Given the description of an element on the screen output the (x, y) to click on. 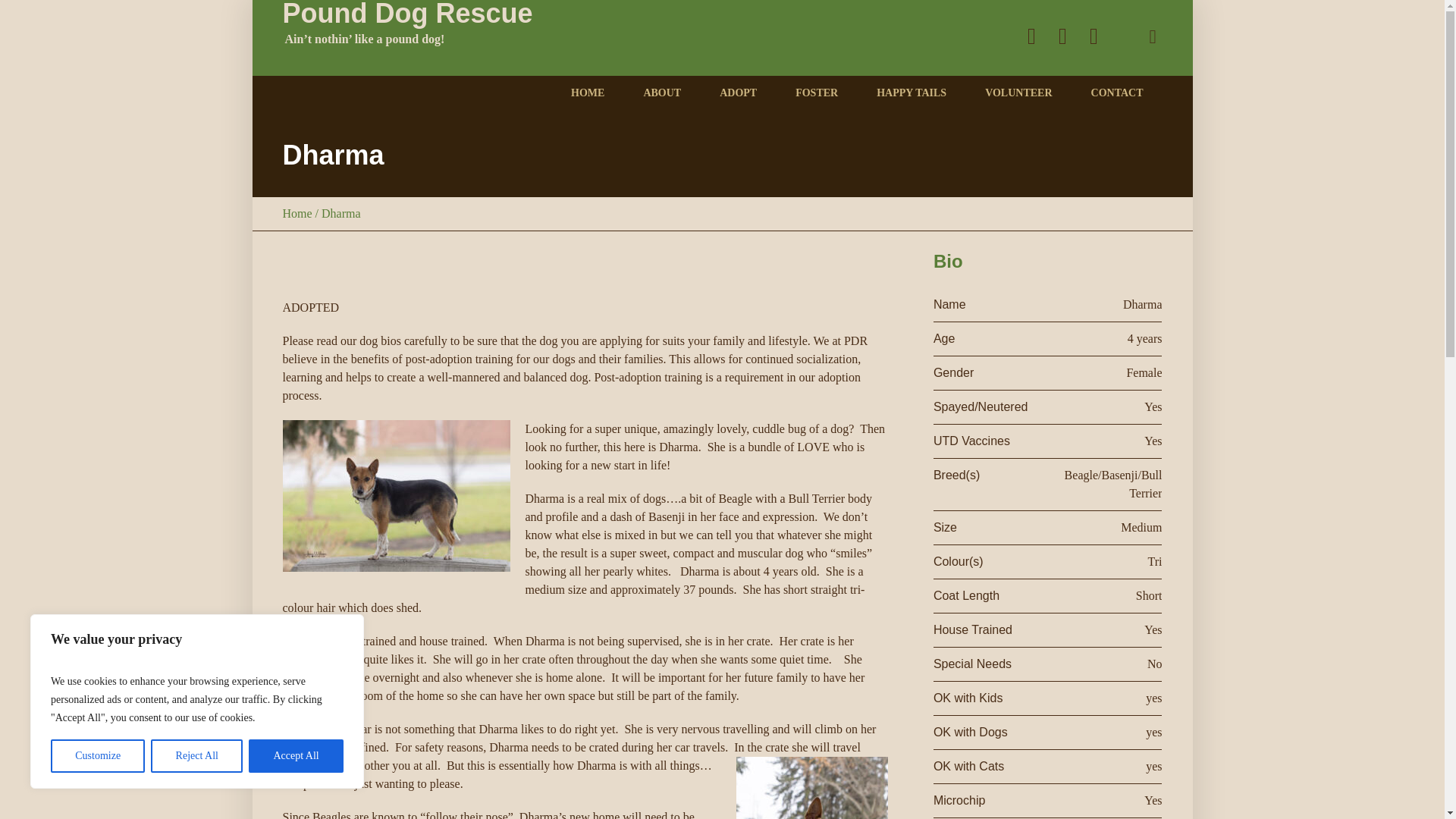
ADOPT (738, 92)
Twitter (1031, 35)
Customize (97, 756)
Reject All (197, 756)
FOSTER (816, 92)
HAPPY TAILS (911, 92)
Pound Dog Rescue (407, 38)
Instgram (1094, 35)
ABOUT (661, 92)
HOME (587, 92)
